Given the description of an element on the screen output the (x, y) to click on. 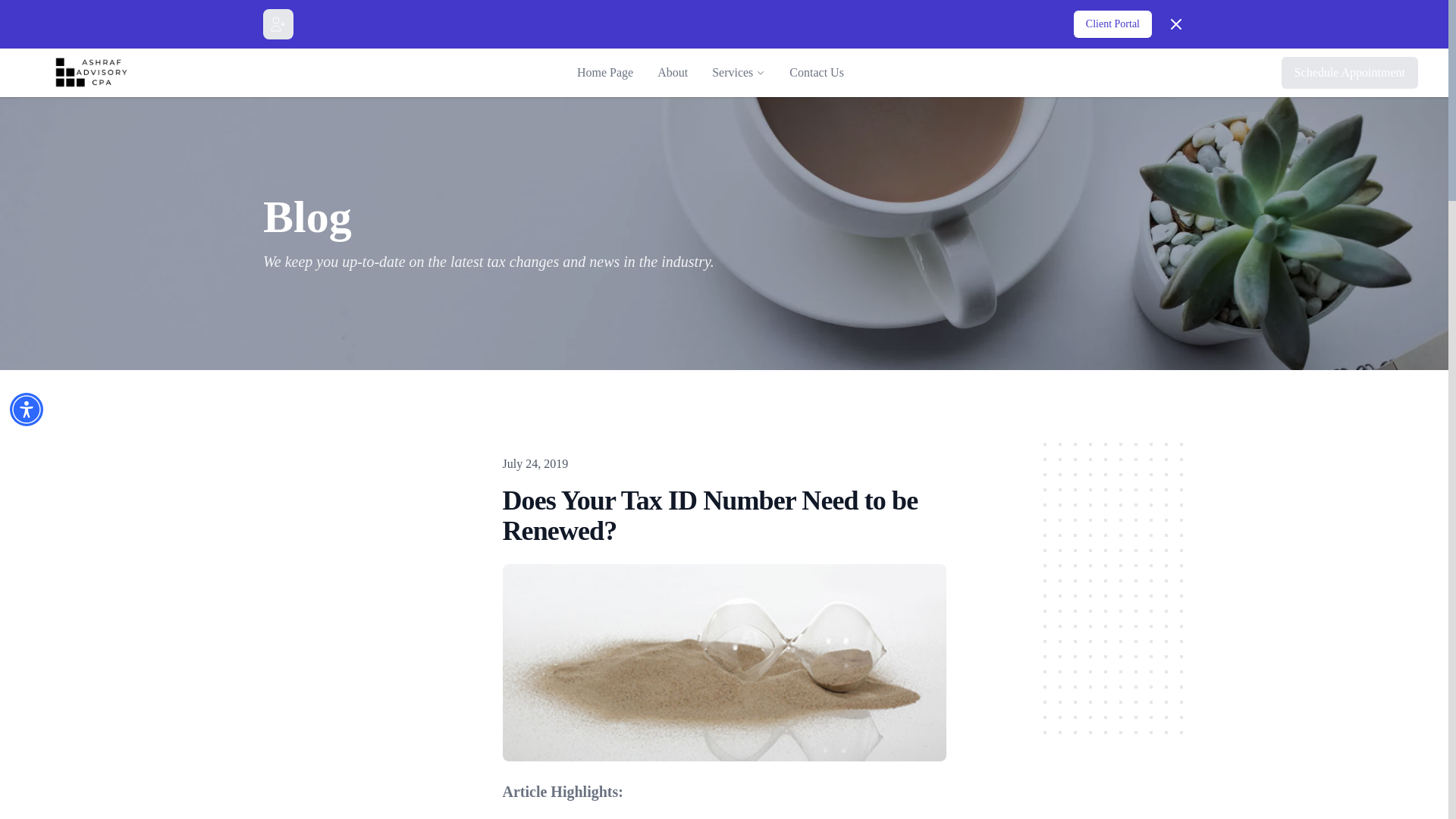
Home Page (604, 72)
About (672, 72)
Accessibility Menu (26, 409)
About (672, 72)
Services (731, 72)
Client Portal (1112, 23)
Home Page (604, 72)
Contact Us (816, 72)
Schedule Appointment (1349, 72)
Contact Us (816, 72)
Dismiss (1175, 24)
Ashraf Advisory PLLC (96, 72)
